Given the description of an element on the screen output the (x, y) to click on. 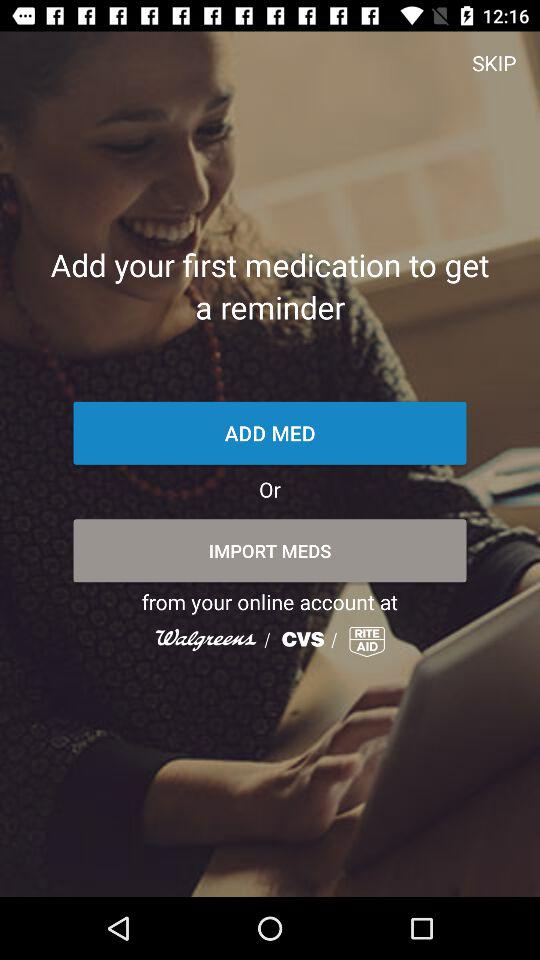
turn on the icon above the add your first item (494, 62)
